Given the description of an element on the screen output the (x, y) to click on. 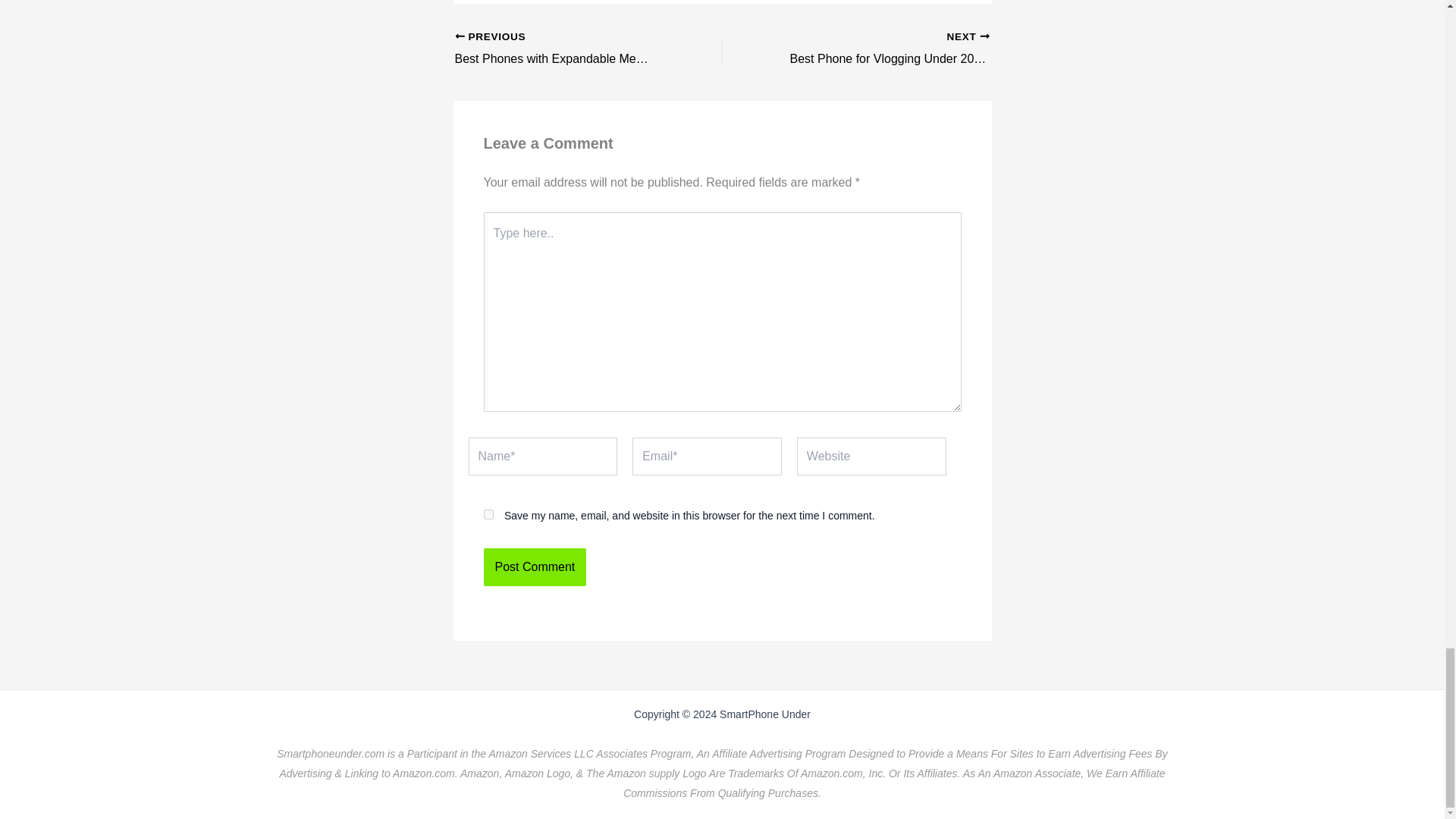
Best Phones with Expandable Memory 2024 (561, 48)
Best Phone for Vlogging Under 20000 INR (882, 48)
Post Comment (561, 48)
yes (534, 566)
Post Comment (882, 48)
